Given the description of an element on the screen output the (x, y) to click on. 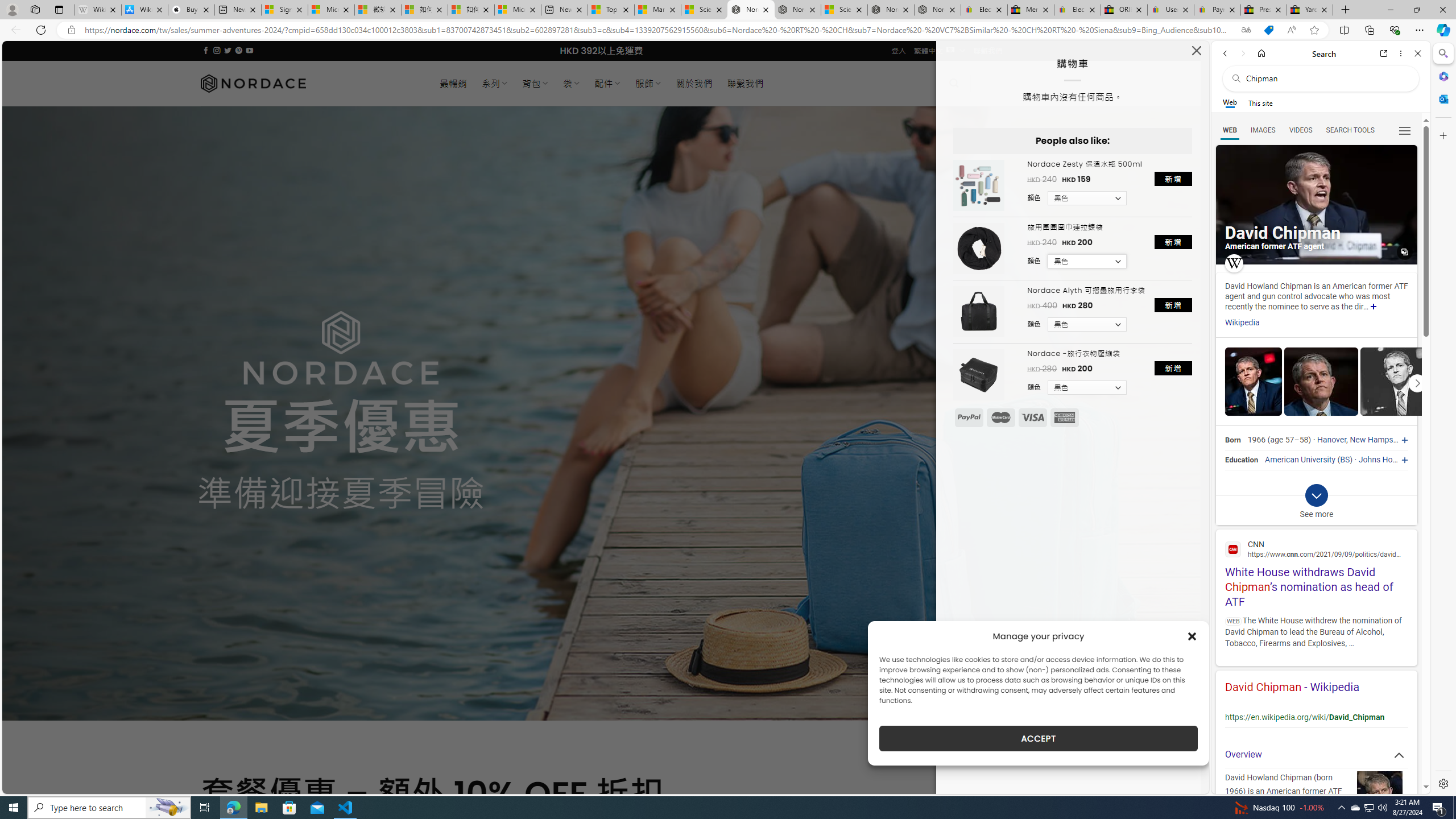
More options (1401, 53)
Follow on Pinterest (237, 50)
Global web icon (1232, 549)
Home (1261, 53)
BS (1344, 460)
Browser essentials (1394, 29)
Refresh (40, 29)
See more (1315, 504)
Forward (1242, 53)
This site has coupons! Shopping in Microsoft Edge (1268, 29)
Show translate options (1245, 29)
